Given the description of an element on the screen output the (x, y) to click on. 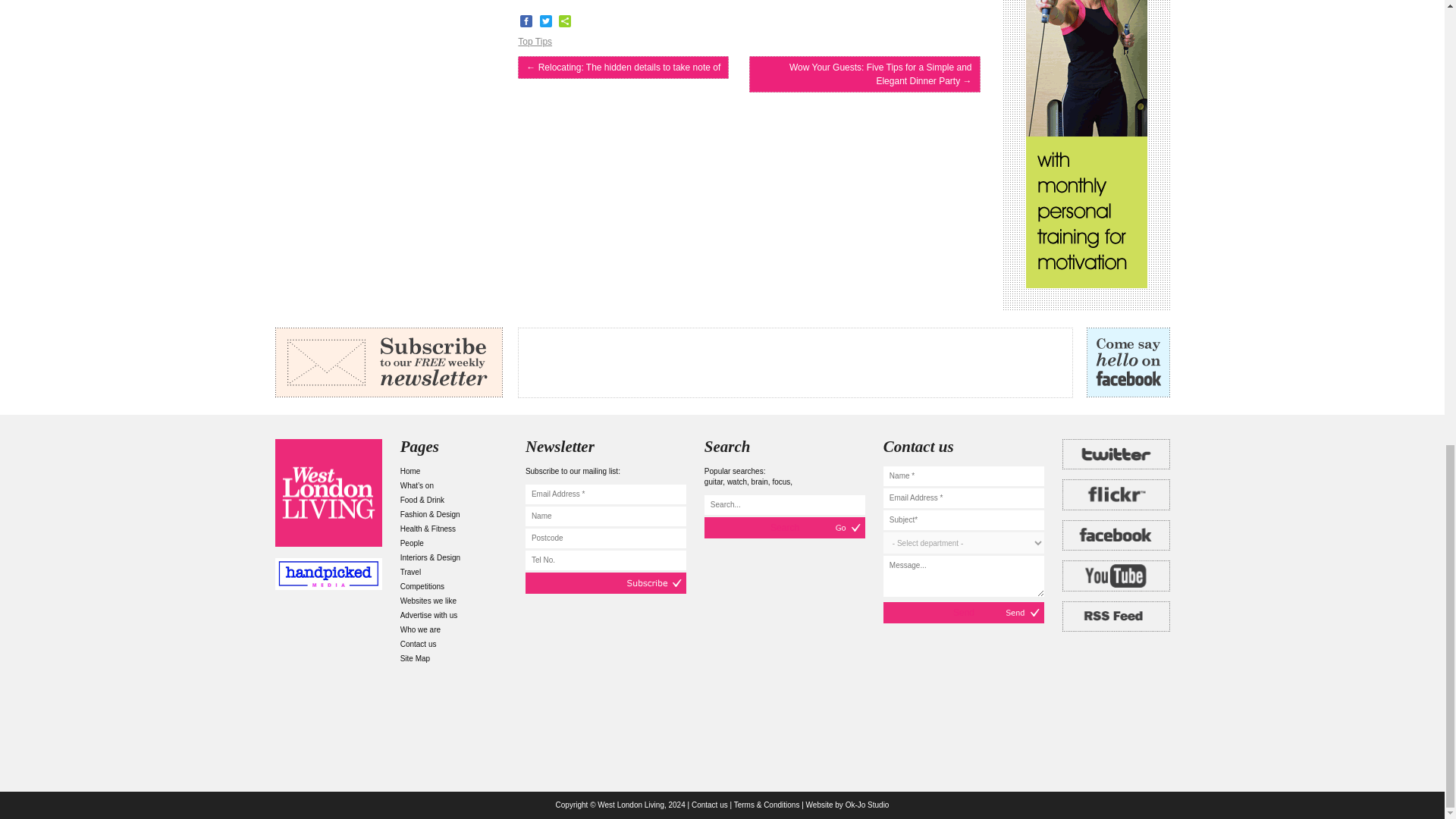
Subscribe (605, 582)
Send (963, 612)
Name (605, 516)
Search (784, 527)
Tel No. (605, 560)
Postcode (605, 537)
